Given the description of an element on the screen output the (x, y) to click on. 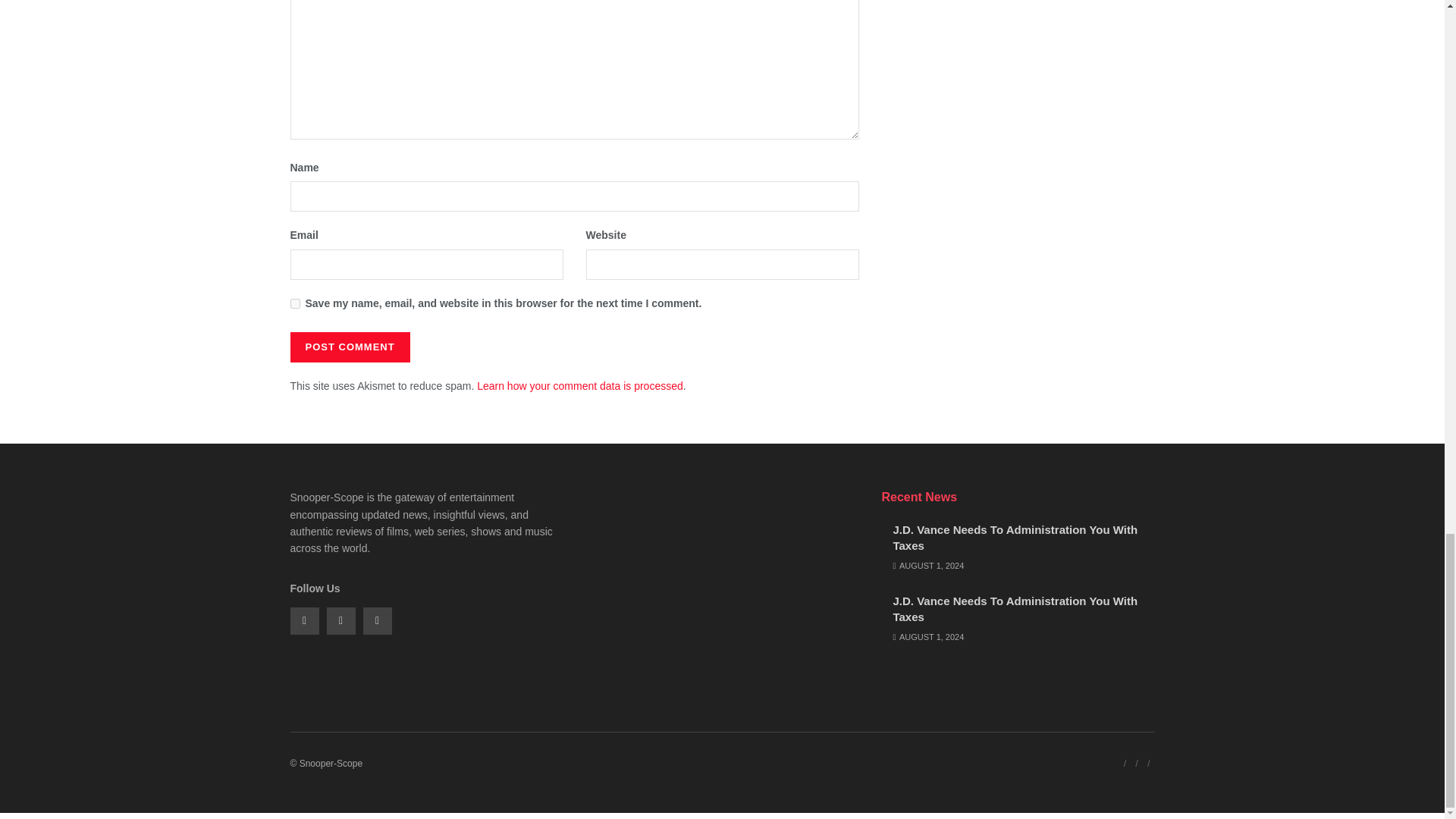
Post Comment (349, 347)
yes (294, 303)
